Given the description of an element on the screen output the (x, y) to click on. 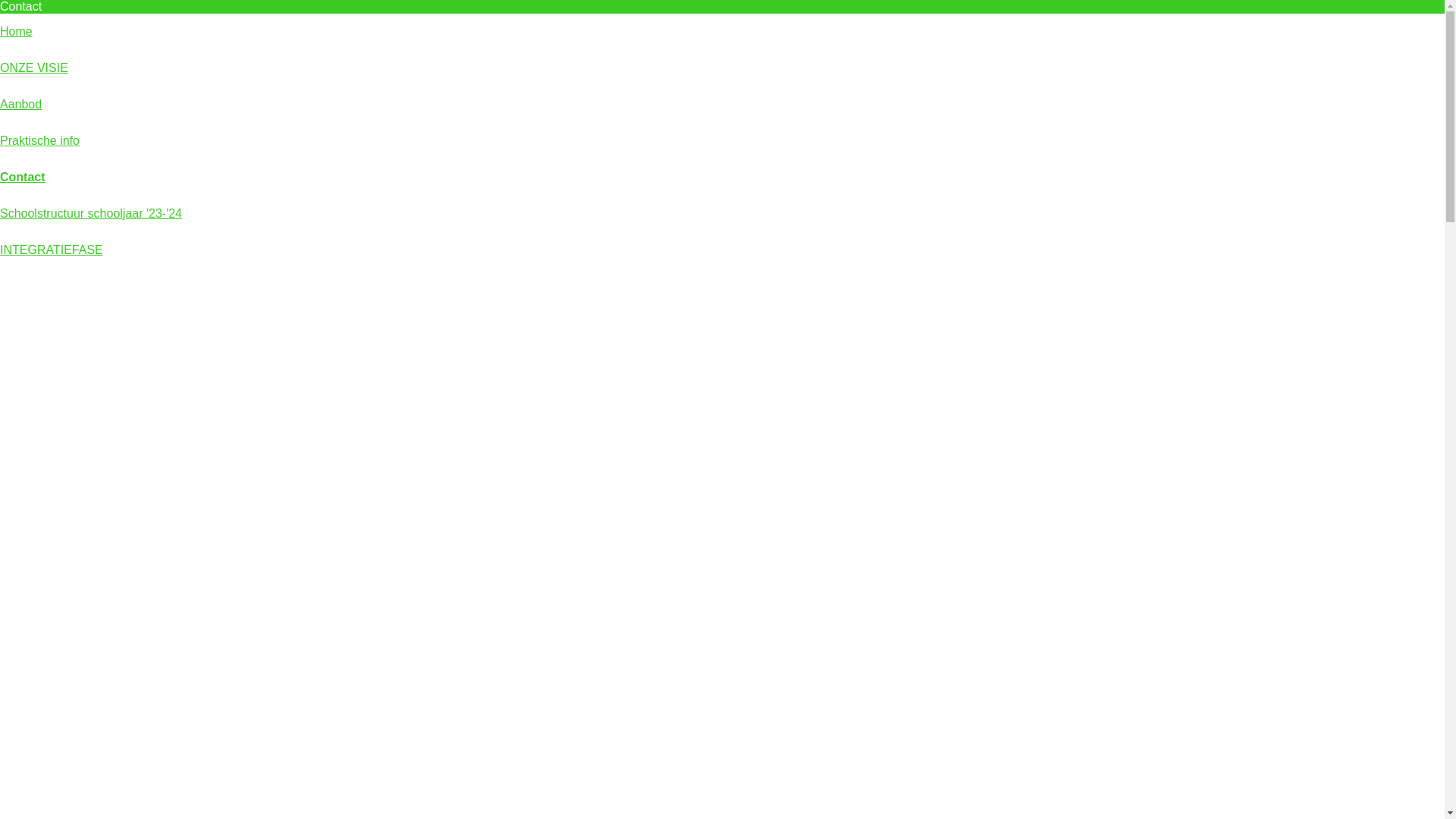
ONZE VISIE Element type: text (34, 67)
Home Element type: text (16, 31)
Contact Element type: text (22, 176)
INTEGRATIEFASE Element type: text (51, 249)
Aanbod Element type: text (20, 103)
Praktische info Element type: text (39, 140)
Schoolstructuur schooljaar '23-'24 Element type: text (91, 213)
